Given the description of an element on the screen output the (x, y) to click on. 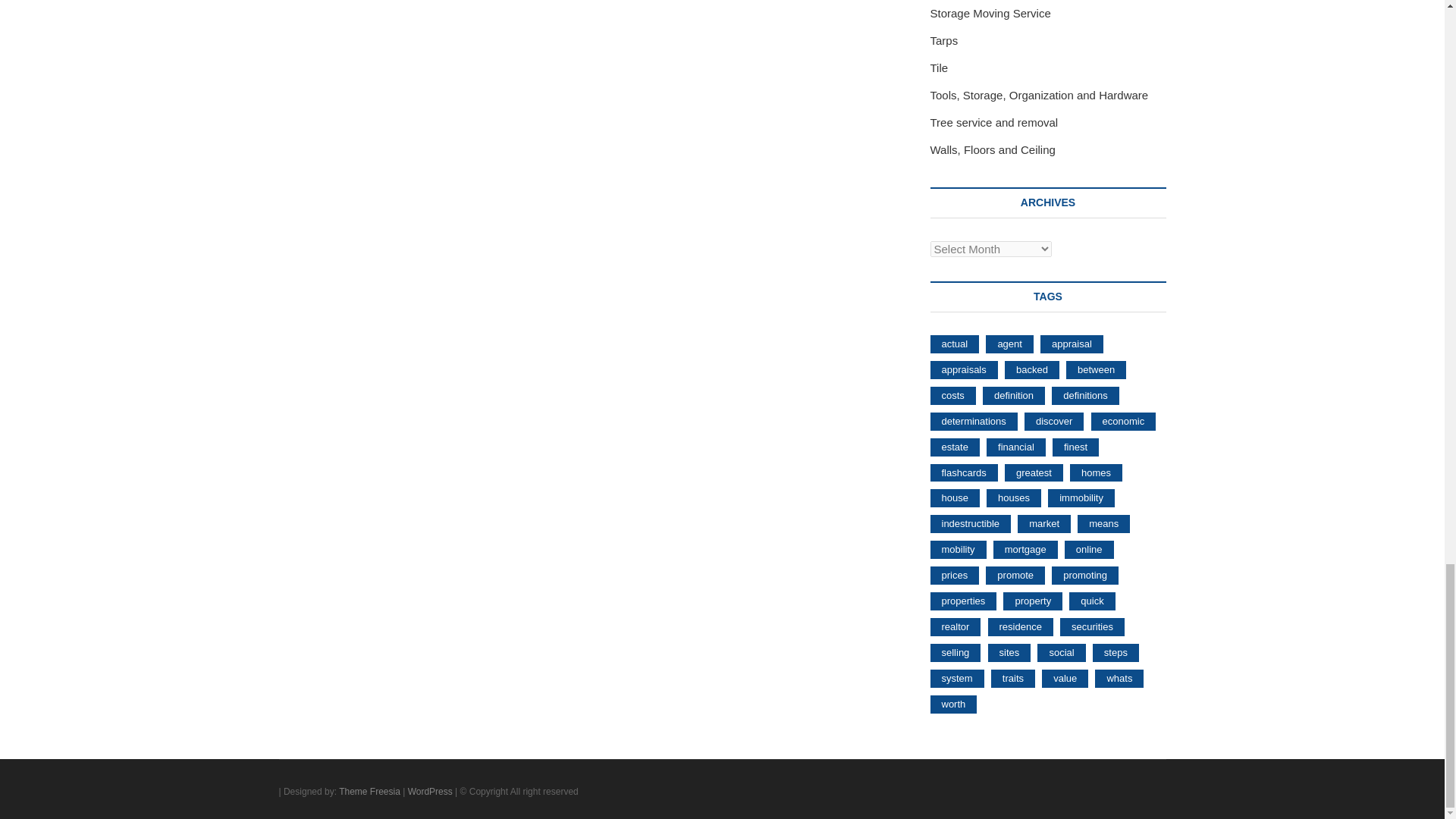
Theme Freesia (369, 791)
WordPress (429, 791)
